Given the description of an element on the screen output the (x, y) to click on. 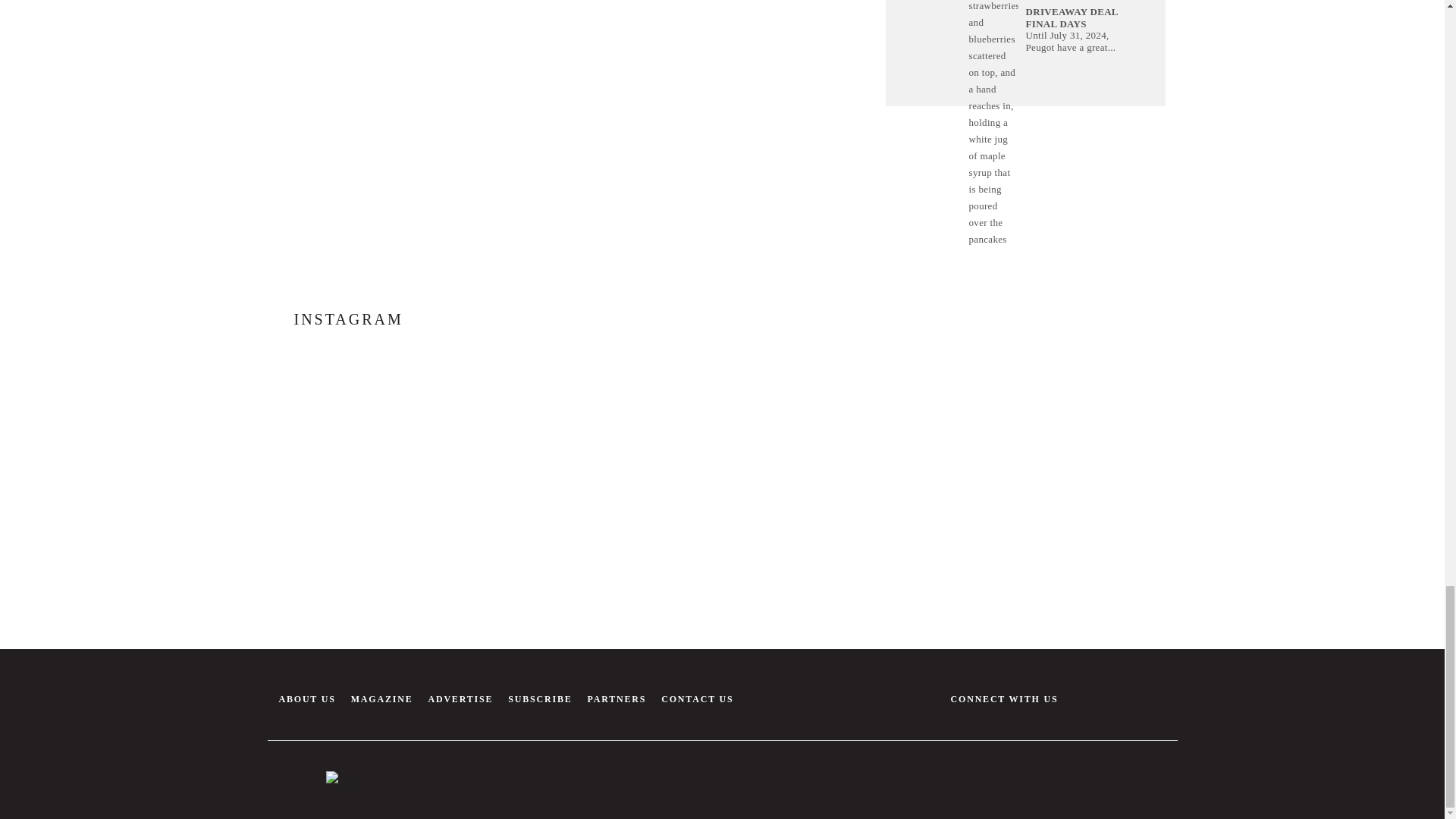
Linkedin (1145, 692)
Facebook (1079, 692)
Instagram (1112, 692)
